Given the description of an element on the screen output the (x, y) to click on. 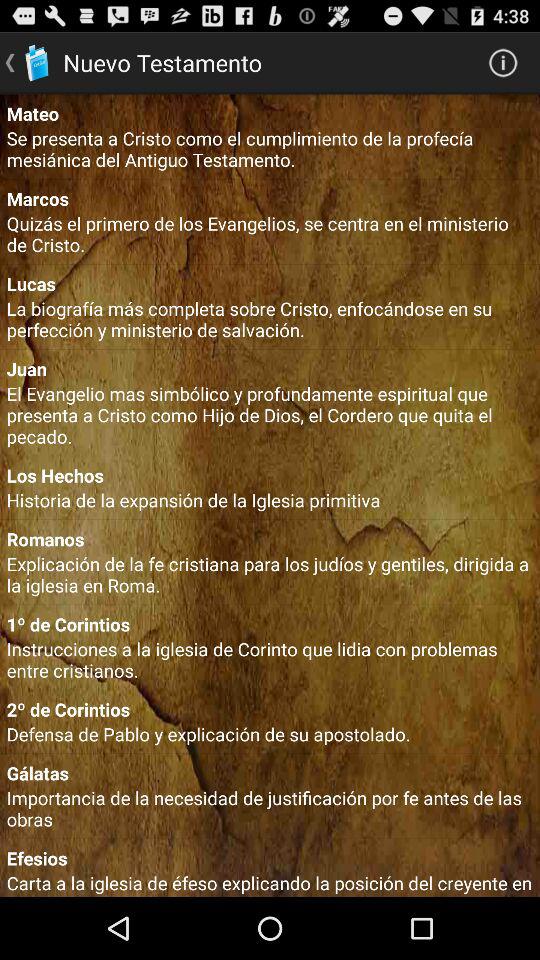
turn off item below the el evangelio mas item (269, 475)
